Given the description of an element on the screen output the (x, y) to click on. 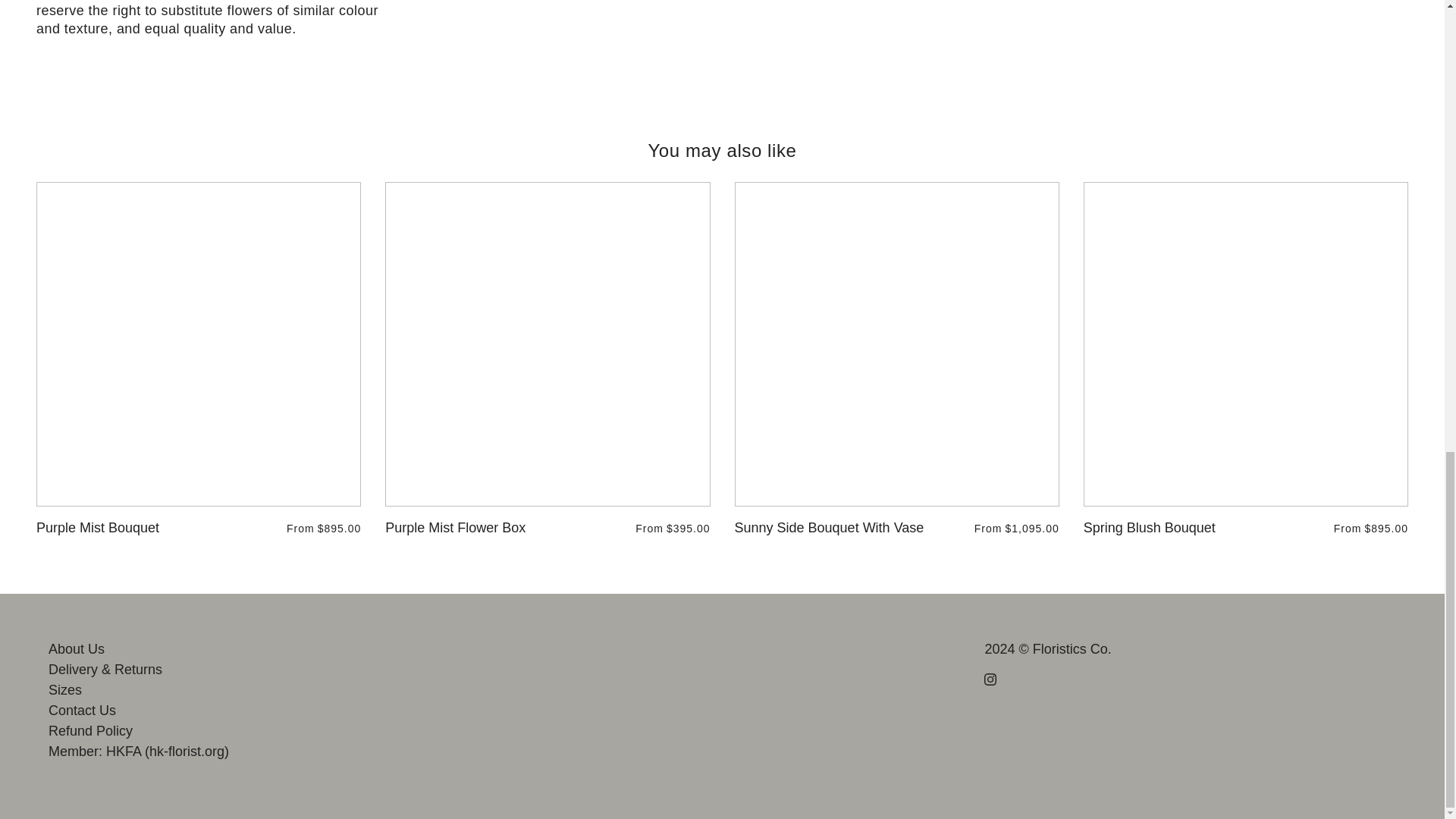
Sizes (64, 689)
About Us (76, 648)
Refund Policy (90, 730)
Contact Us (82, 710)
